Given the description of an element on the screen output the (x, y) to click on. 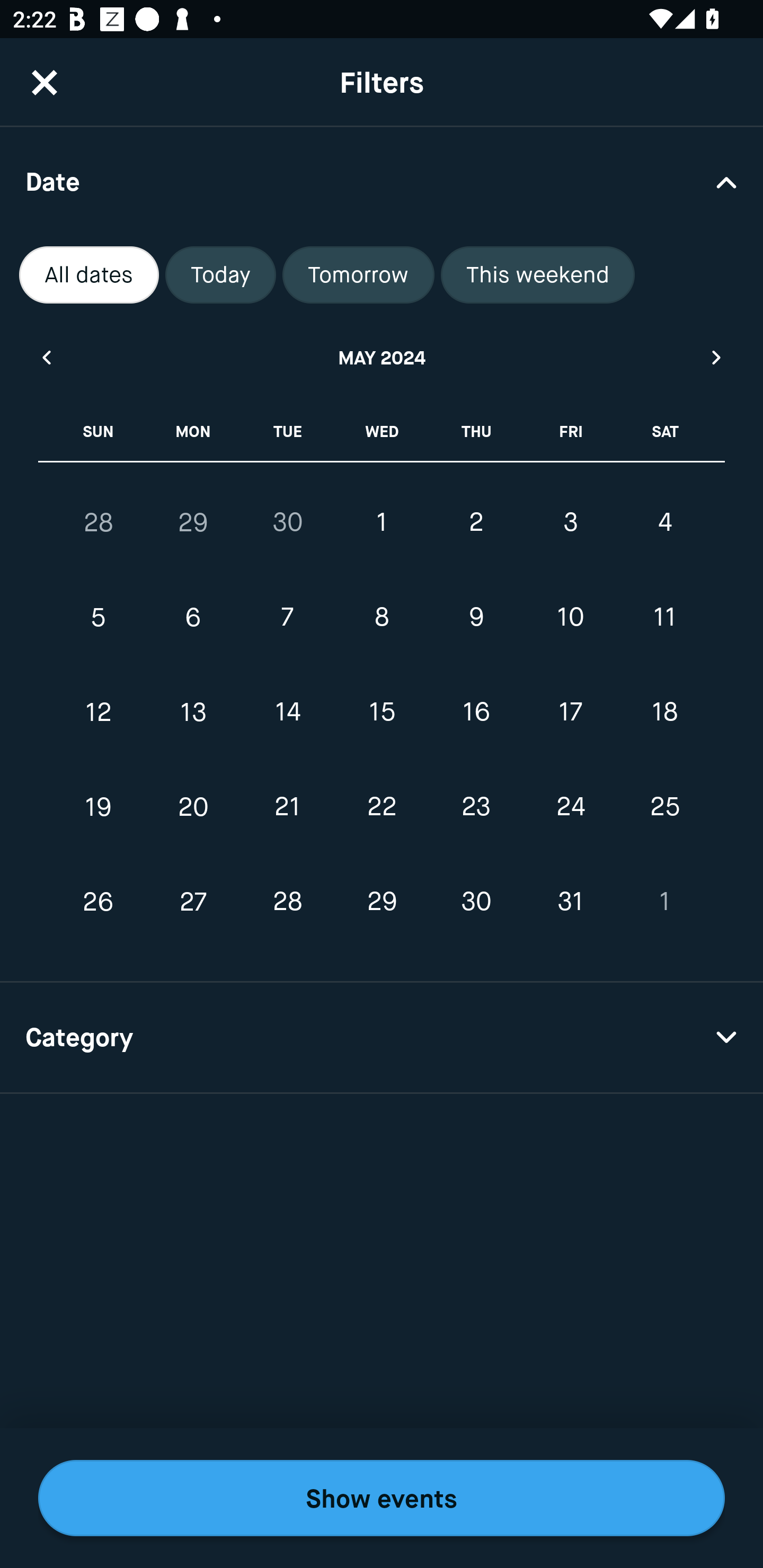
CloseButton (44, 82)
Date Drop Down Arrow (381, 181)
All dates (88, 274)
Today (220, 274)
Tomorrow (358, 274)
This weekend (537, 274)
Previous (45, 357)
Next (717, 357)
28 (98, 522)
29 (192, 522)
30 (287, 522)
1 (381, 522)
2 (475, 522)
3 (570, 522)
4 (664, 522)
5 (98, 617)
6 (192, 617)
7 (287, 617)
8 (381, 617)
9 (475, 617)
10 (570, 617)
11 (664, 617)
12 (98, 711)
13 (192, 711)
14 (287, 711)
15 (381, 711)
16 (475, 711)
17 (570, 711)
18 (664, 711)
19 (98, 806)
20 (192, 806)
21 (287, 806)
22 (381, 806)
23 (475, 806)
24 (570, 806)
25 (664, 806)
26 (98, 901)
27 (192, 901)
28 (287, 901)
29 (381, 901)
30 (475, 901)
31 (570, 901)
1 (664, 901)
Category Drop Down Arrow (381, 1038)
Show events (381, 1497)
